Given the description of an element on the screen output the (x, y) to click on. 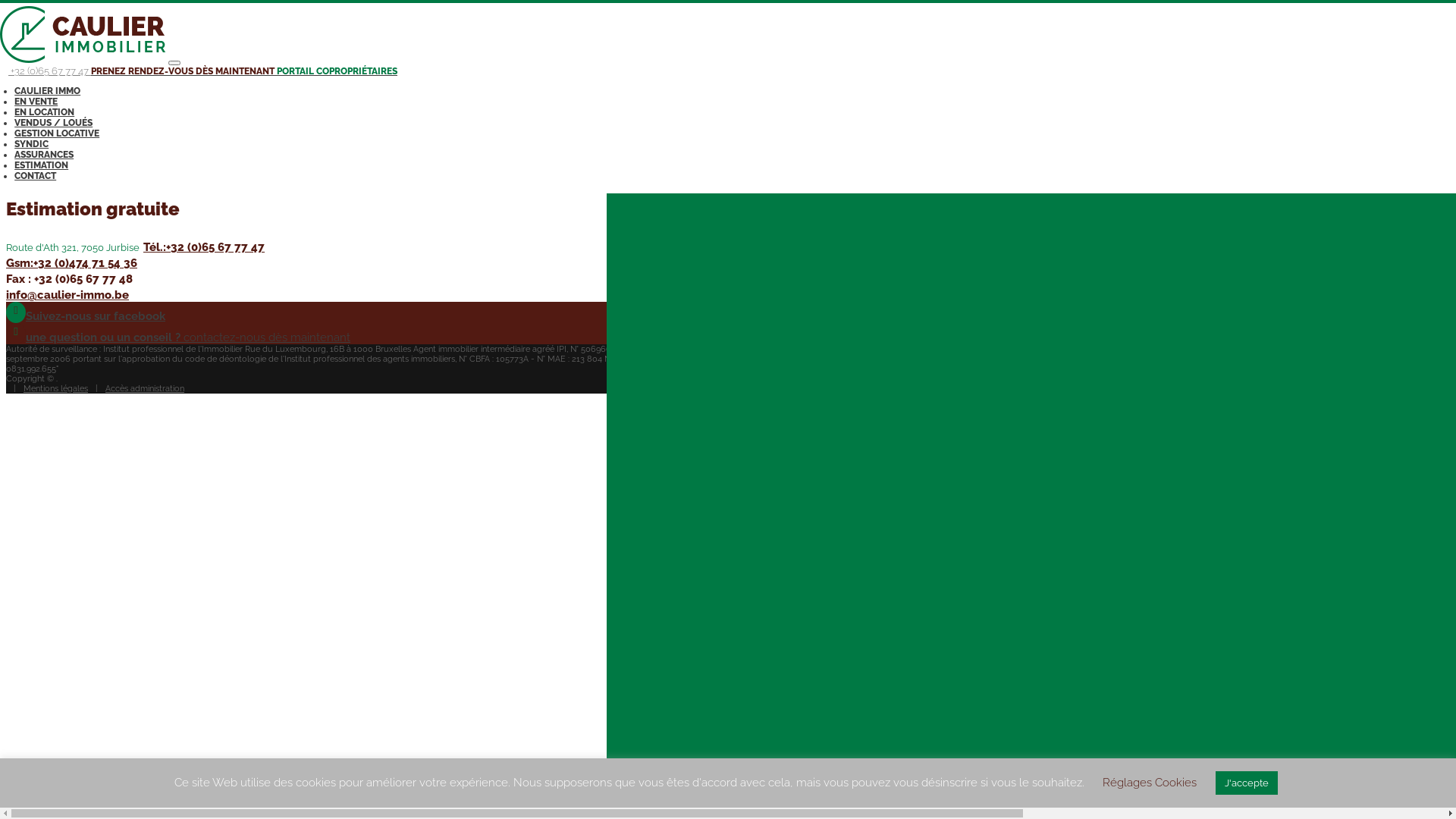
ASSURANCES Element type: text (43, 154)
Suivez-nous sur facebook Element type: text (85, 316)
info@caulier-immo.be Element type: text (67, 294)
EN VENTE Element type: text (35, 101)
CAULIER IMMO Element type: text (47, 90)
J'accepte Element type: text (1246, 782)
CONTACT Element type: text (35, 175)
ESTIMATION Element type: text (41, 165)
Gsm:+32 (0)474 71 54 36 Element type: text (71, 262)
+32 (0)65 67 77 47 Element type: text (45, 70)
SYNDIC Element type: text (31, 143)
EN LOCATION Element type: text (44, 111)
GESTION LOCATIVE Element type: text (56, 133)
